Given the description of an element on the screen output the (x, y) to click on. 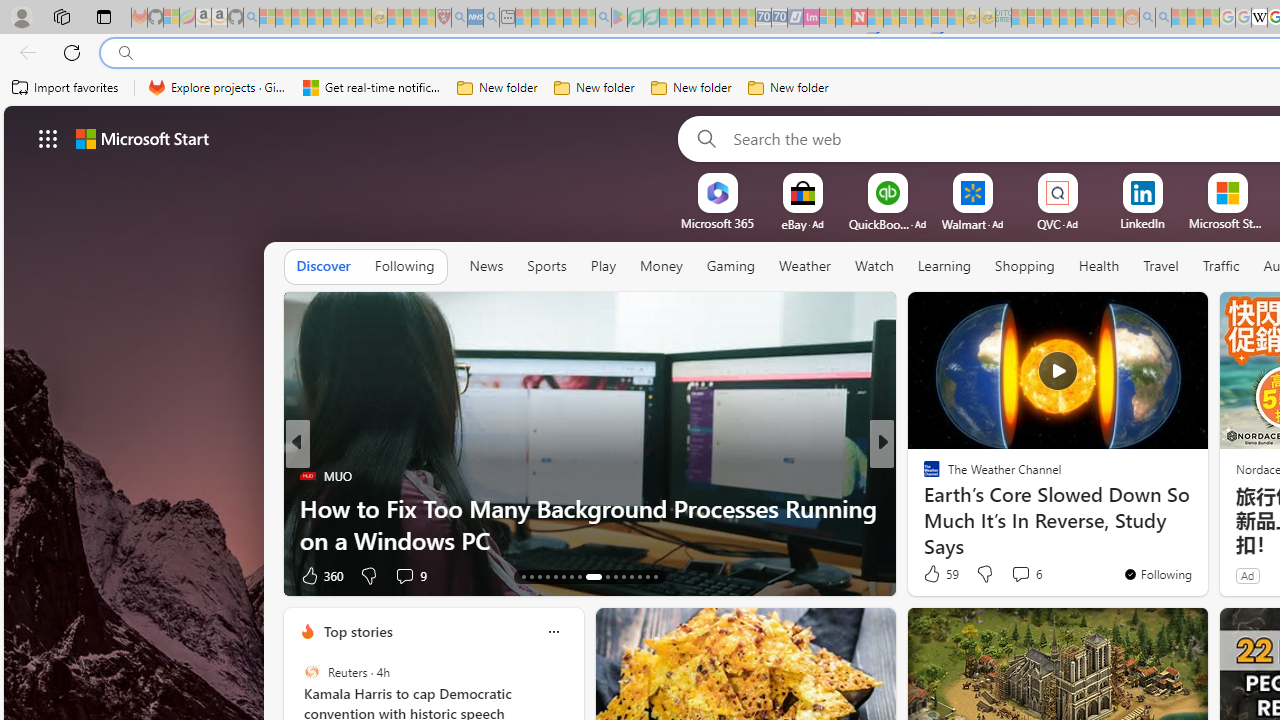
Traffic (1220, 265)
View comments 11 Comment (1029, 574)
Utah sues federal government - Search - Sleeping (1163, 17)
CNET (923, 475)
View comments 5 Comment (1014, 575)
Microsoft start (142, 138)
